Given the description of an element on the screen output the (x, y) to click on. 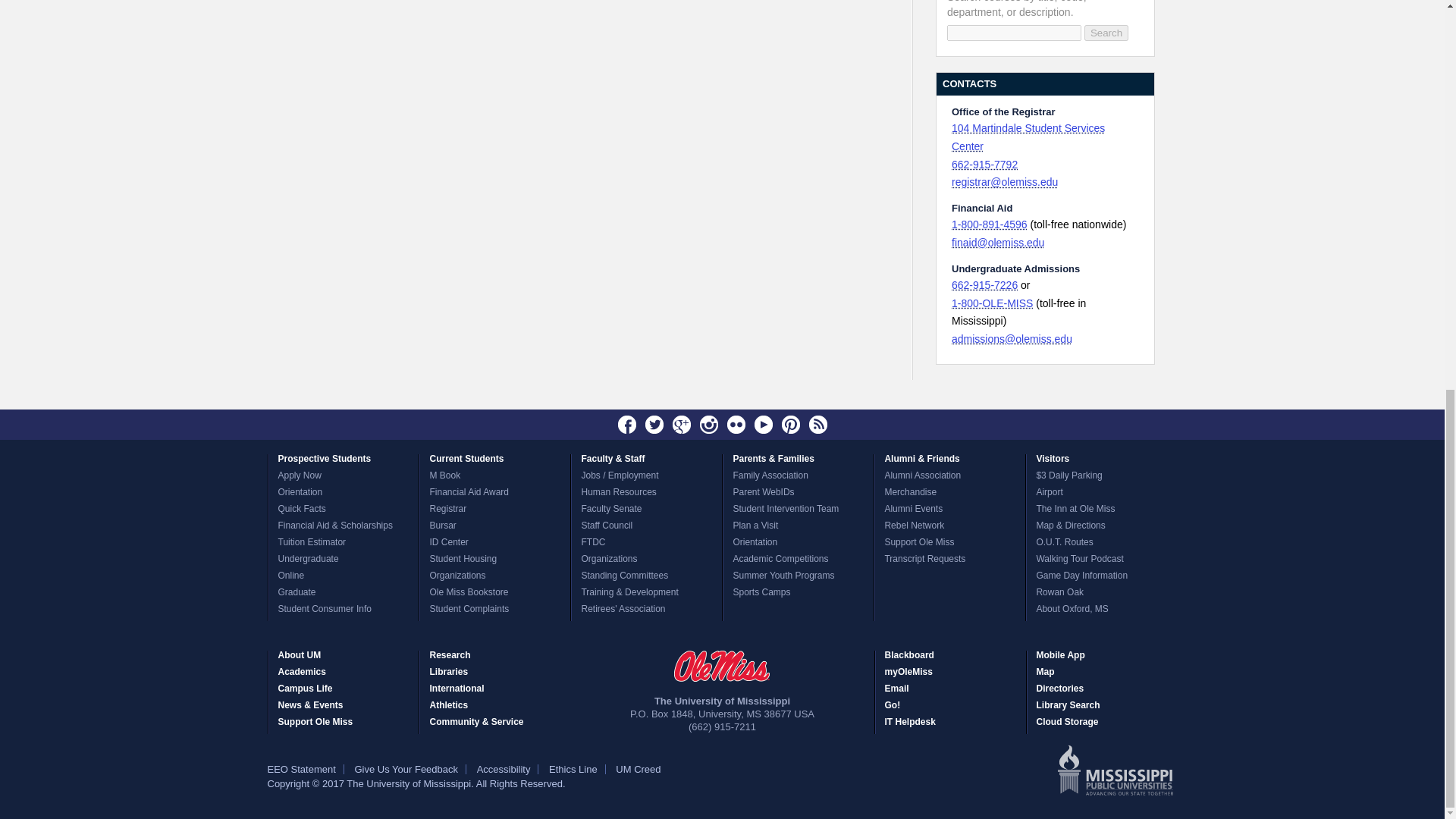
Search (1106, 32)
Flickr (735, 424)
Youtube (763, 424)
Twitter (654, 424)
Instagram (708, 424)
News Feed (818, 424)
Facebook (627, 424)
Pinterest (790, 424)
